Given the description of an element on the screen output the (x, y) to click on. 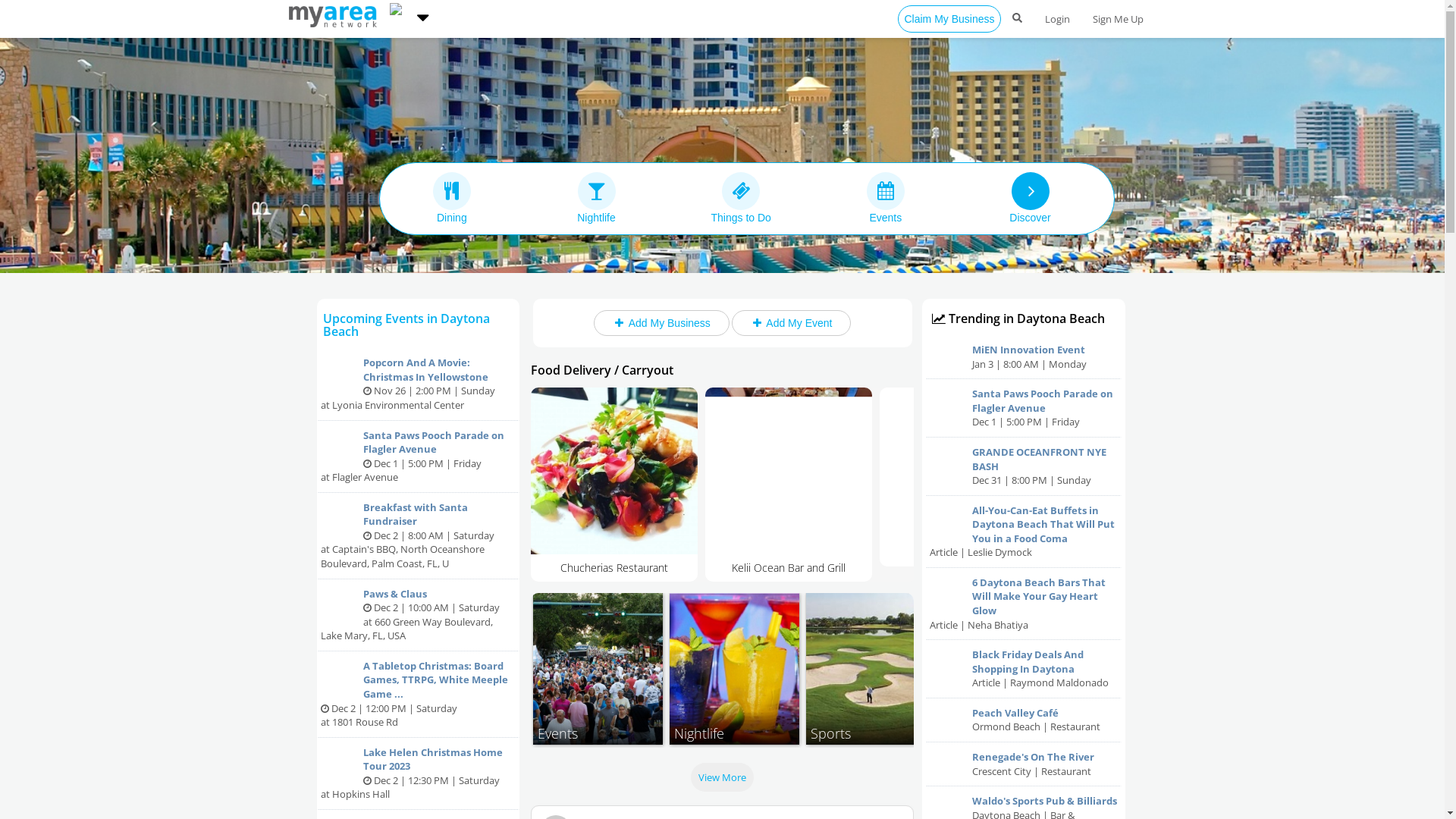
    Add My Event    Element type: text (790, 322)
    Add My Business    Element type: text (661, 322)
Events Element type: text (885, 197)
Nightlife Element type: text (596, 197)
Chucherias Restaurant Element type: text (962, 480)
Discover Element type: text (1029, 197)
Delicias Centro Americanas Element type: text (788, 480)
Upcoming Events in Daytona Beach Element type: text (406, 324)
Sports Element type: text (870, 668)
Things to Do Element type: text (740, 197)
Events Element type: text (597, 668)
Dining Element type: text (451, 197)
Sign Me Up Element type: text (1117, 18)
GRANDE OCEANFRONT NYE BASH
Dec 31 | 8:00 PM | Sunday Element type: text (1023, 466)
Nightlife Element type: text (733, 668)
View More Element type: text (721, 776)
Renegade's On The River
Crescent City | Restaurant Element type: text (1023, 764)
CAFE CON LECHE Latin Food Element type: text (613, 480)
https://www.386area.com Element type: hover (335, 15)
Login Element type: text (1056, 18)
https://www.386area.com Element type: hover (400, 15)
Food Delivery / Carryout Element type: text (601, 369)
Claim My Business Element type: text (948, 18)
MiEN Innovation Event
Jan 3 | 8:00 AM | Monday Element type: text (1023, 357)
